Given the description of an element on the screen output the (x, y) to click on. 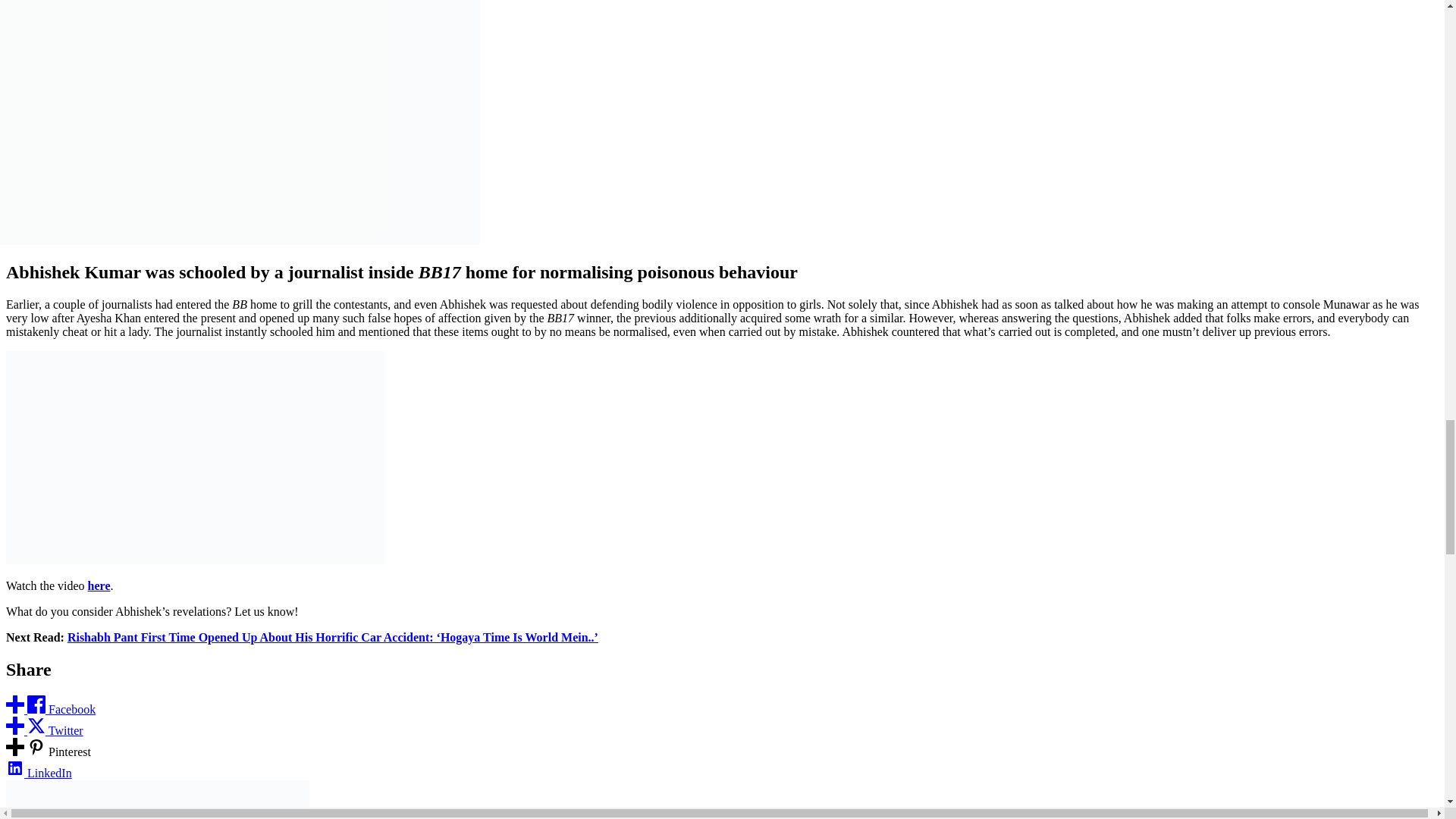
Facebook (50, 708)
LinkedIn (38, 772)
here (98, 585)
Twitter (43, 730)
Pinterest (47, 751)
